Given the description of an element on the screen output the (x, y) to click on. 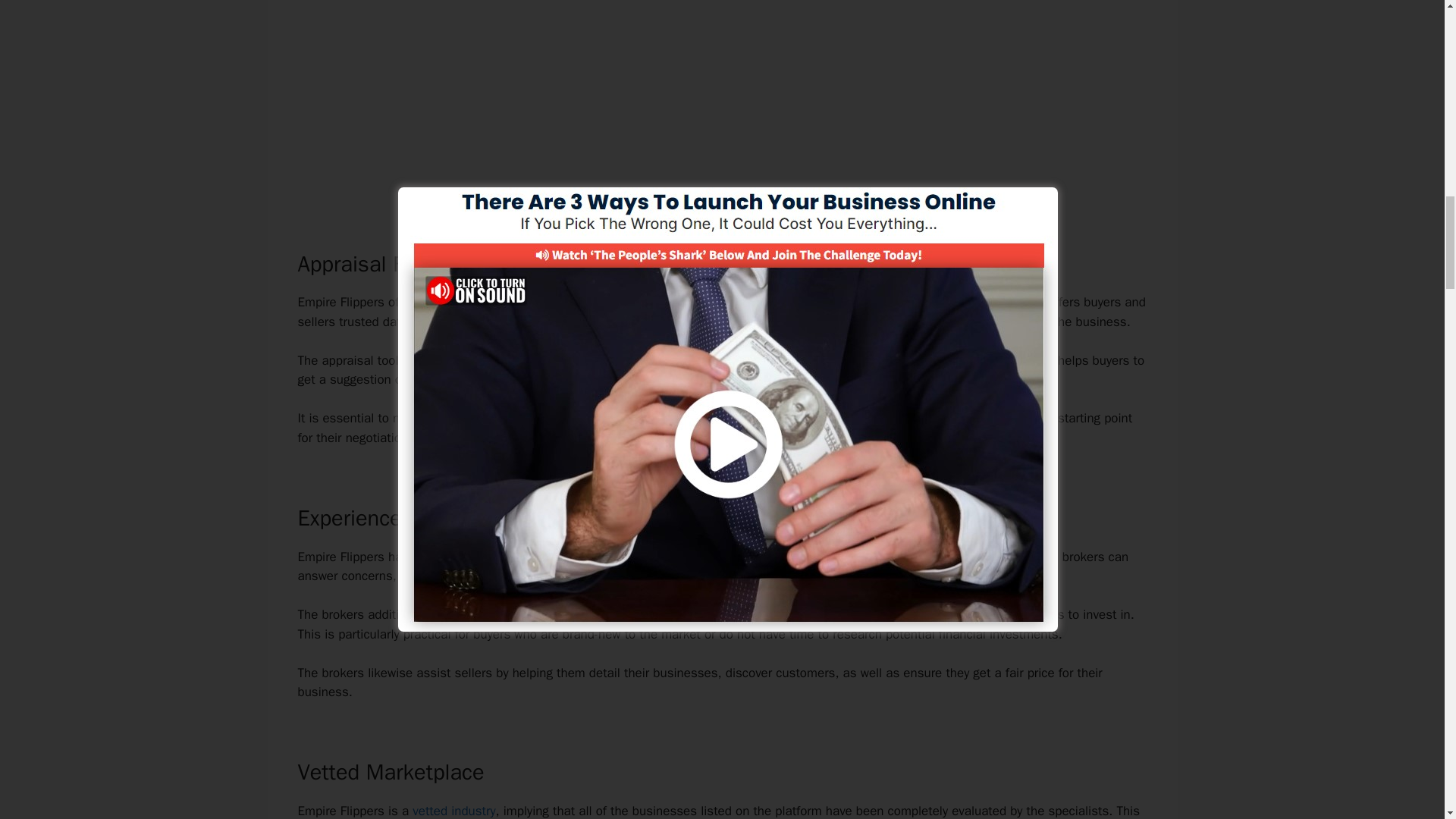
vetted industry (453, 811)
